Given the description of an element on the screen output the (x, y) to click on. 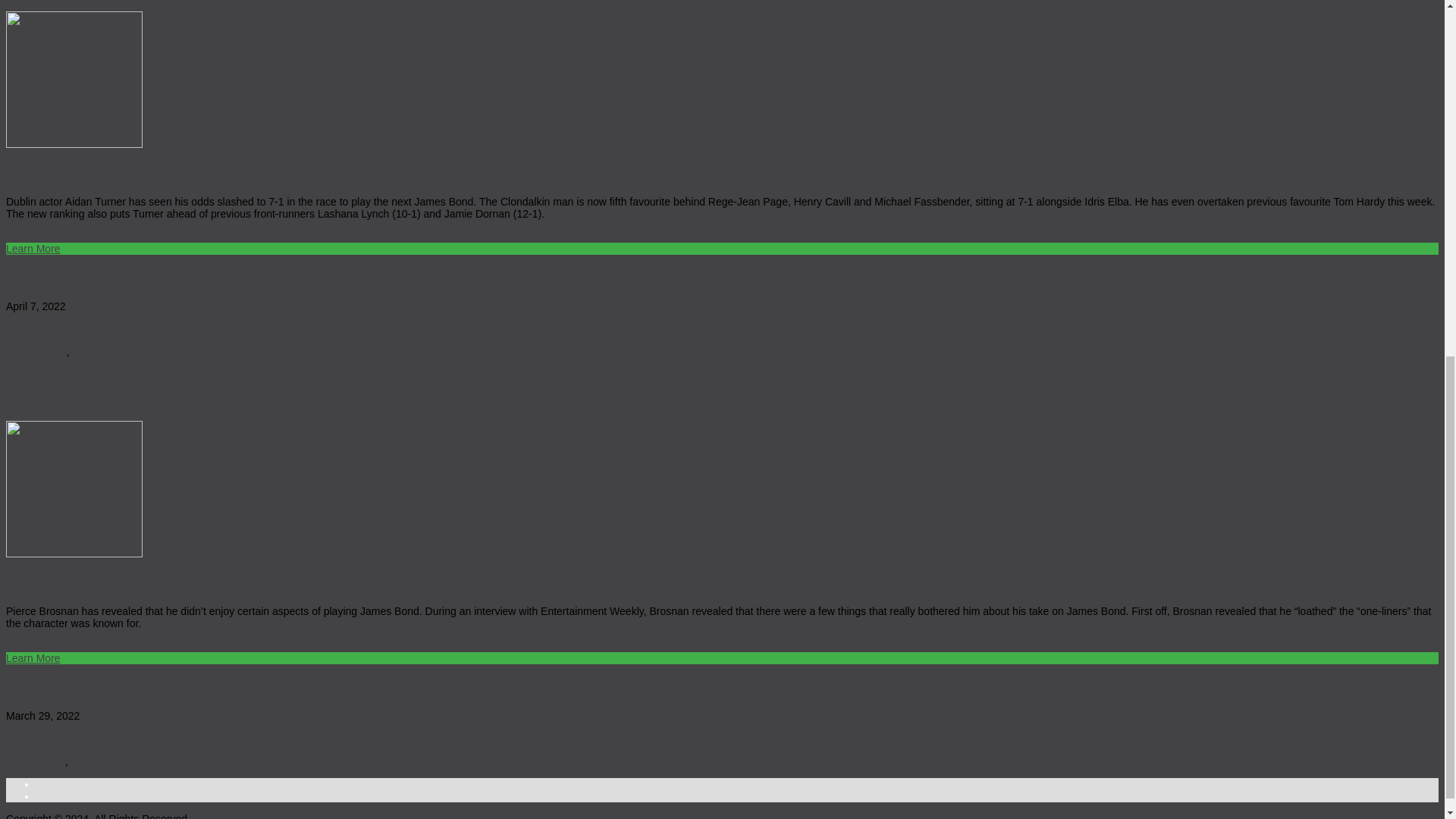
Learn More (33, 657)
James Bond (101, 351)
Pierce Brosnan on Bond (137, 389)
Pierce Brosnan on Bond (137, 389)
Learn More (33, 248)
Irish Film (27, 738)
Irish Film (27, 328)
Pierce Brosnan (107, 761)
Aidan Turner (35, 351)
James Bond (35, 761)
